Given the description of an element on the screen output the (x, y) to click on. 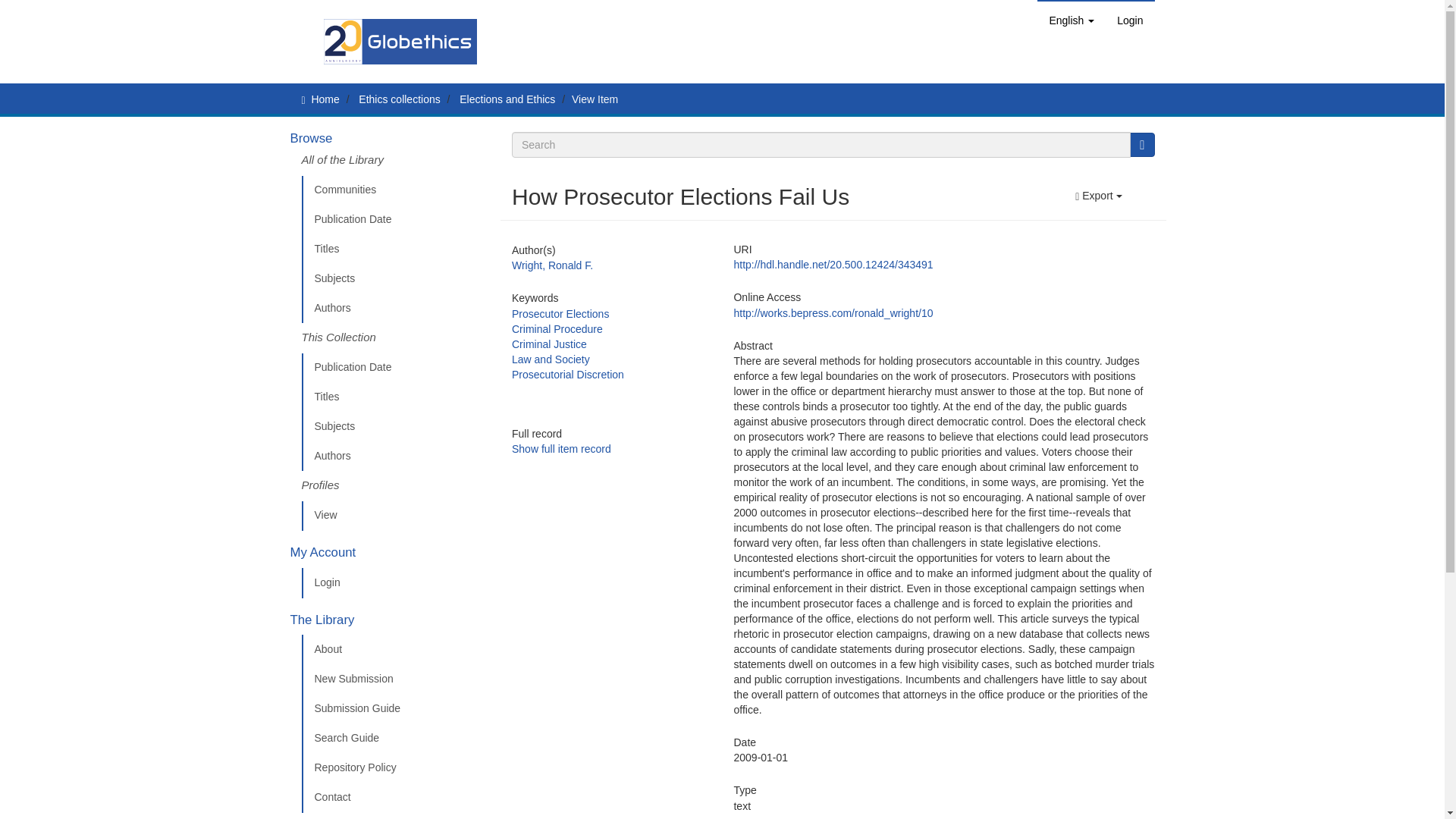
Ethics collections (398, 99)
Publication Date (395, 219)
Go (1141, 144)
Login (1129, 19)
This Collection (395, 337)
English  (1070, 19)
Home (325, 99)
Subjects (395, 278)
Titles (395, 249)
Elections and Ethics (507, 99)
